Given the description of an element on the screen output the (x, y) to click on. 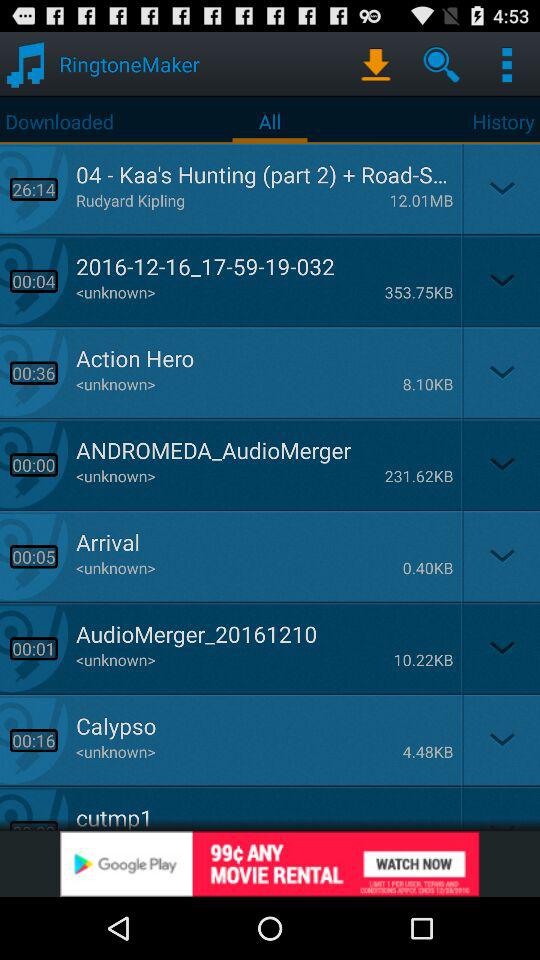
open advertisement (270, 864)
